Given the description of an element on the screen output the (x, y) to click on. 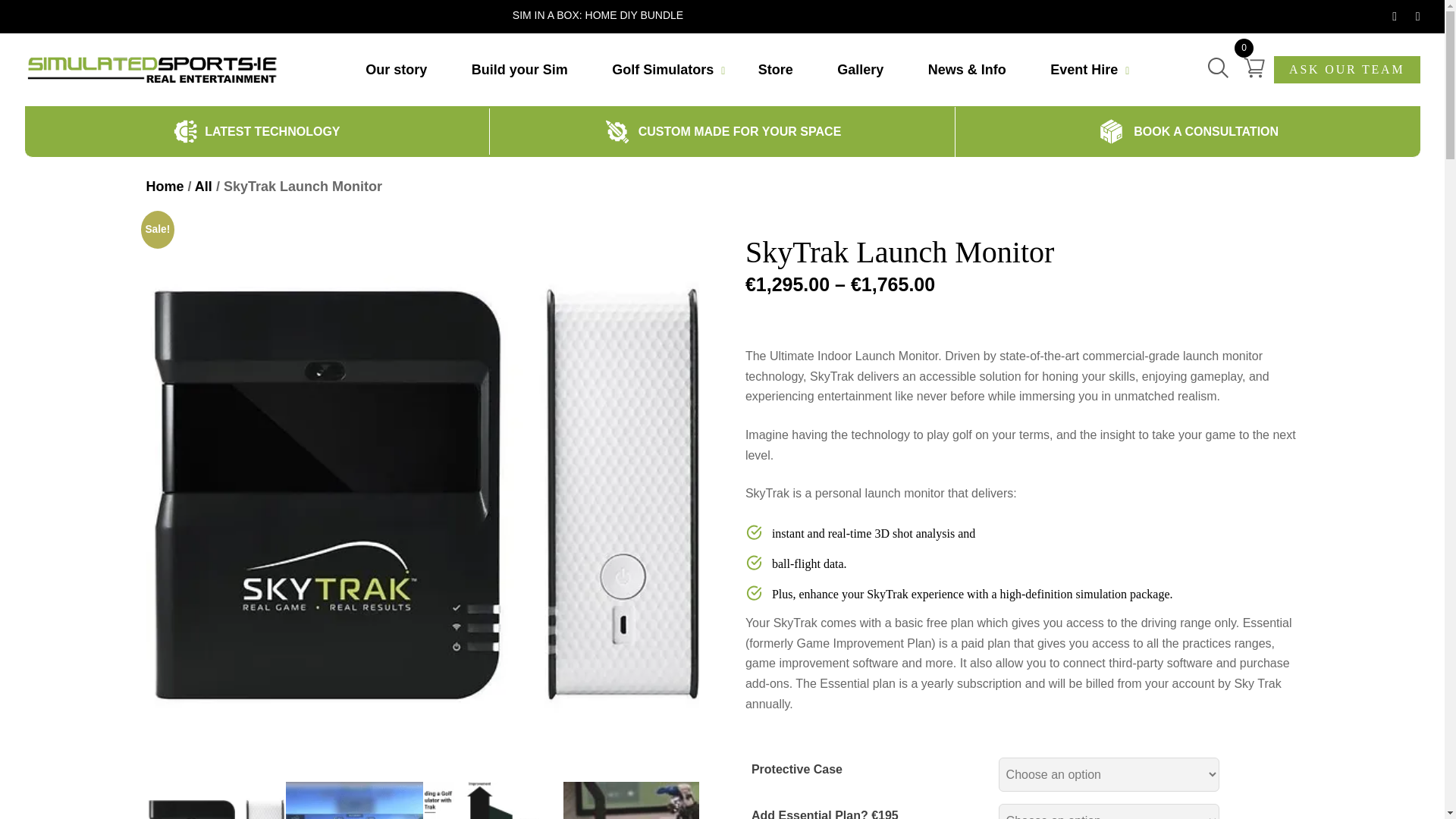
LATEST TECHNOLOGY (272, 130)
Golf Simulators (662, 68)
Home (164, 186)
ASK OUR TEAM (1346, 69)
Build your Sim (519, 68)
Gallery (860, 68)
Event Hire (1083, 68)
0 (1253, 66)
Our story (395, 68)
SIM IN A BOX: HOME DIY BUNDLE (597, 15)
Store (775, 68)
CUSTOM MADE FOR YOUR SPACE (740, 130)
BOOK A CONSULTATION (1206, 130)
All (203, 186)
